Given the description of an element on the screen output the (x, y) to click on. 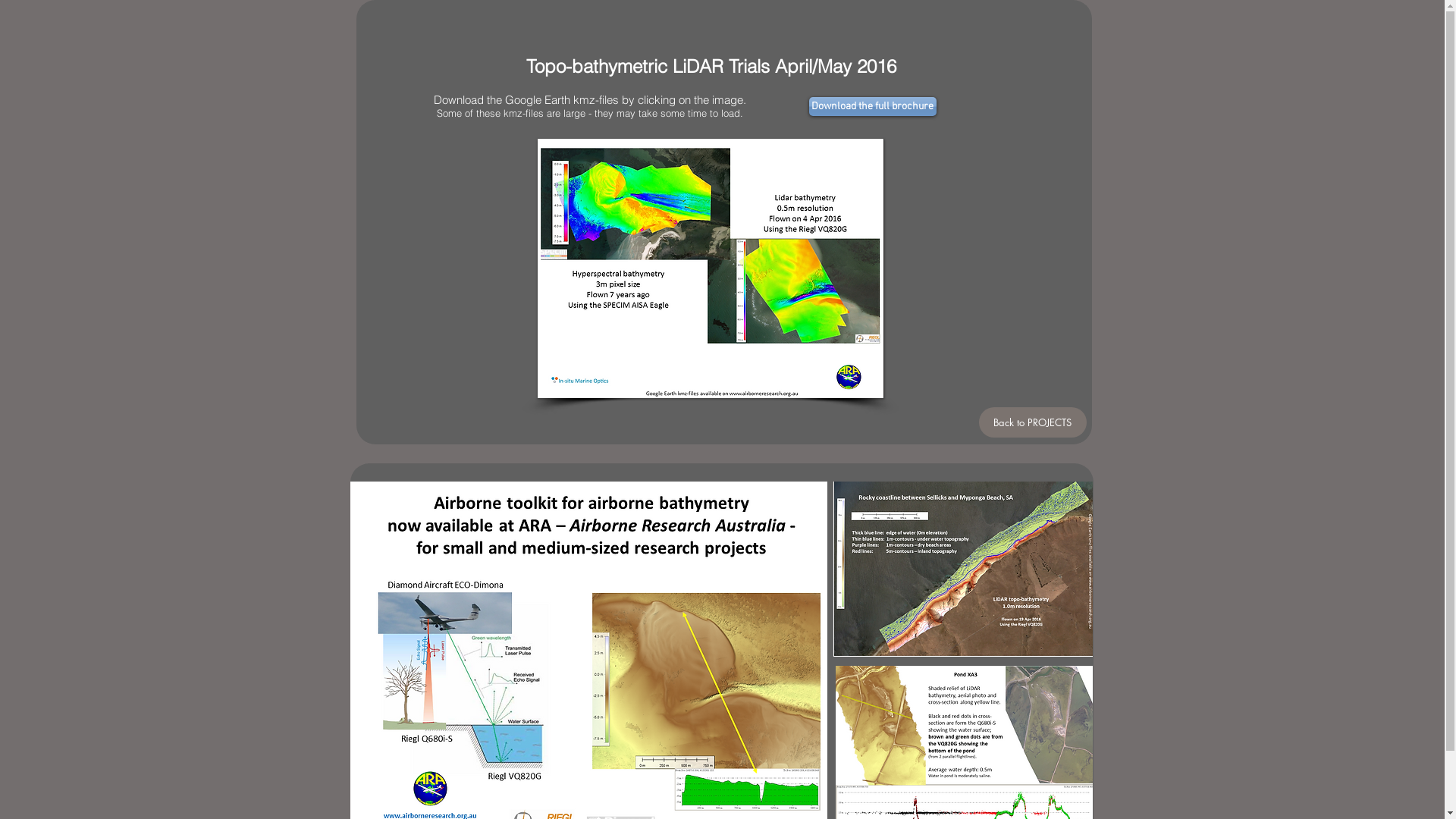
Back to PROJECTS Element type: text (1031, 422)
Download the full brochure Element type: text (871, 106)
